Given the description of an element on the screen output the (x, y) to click on. 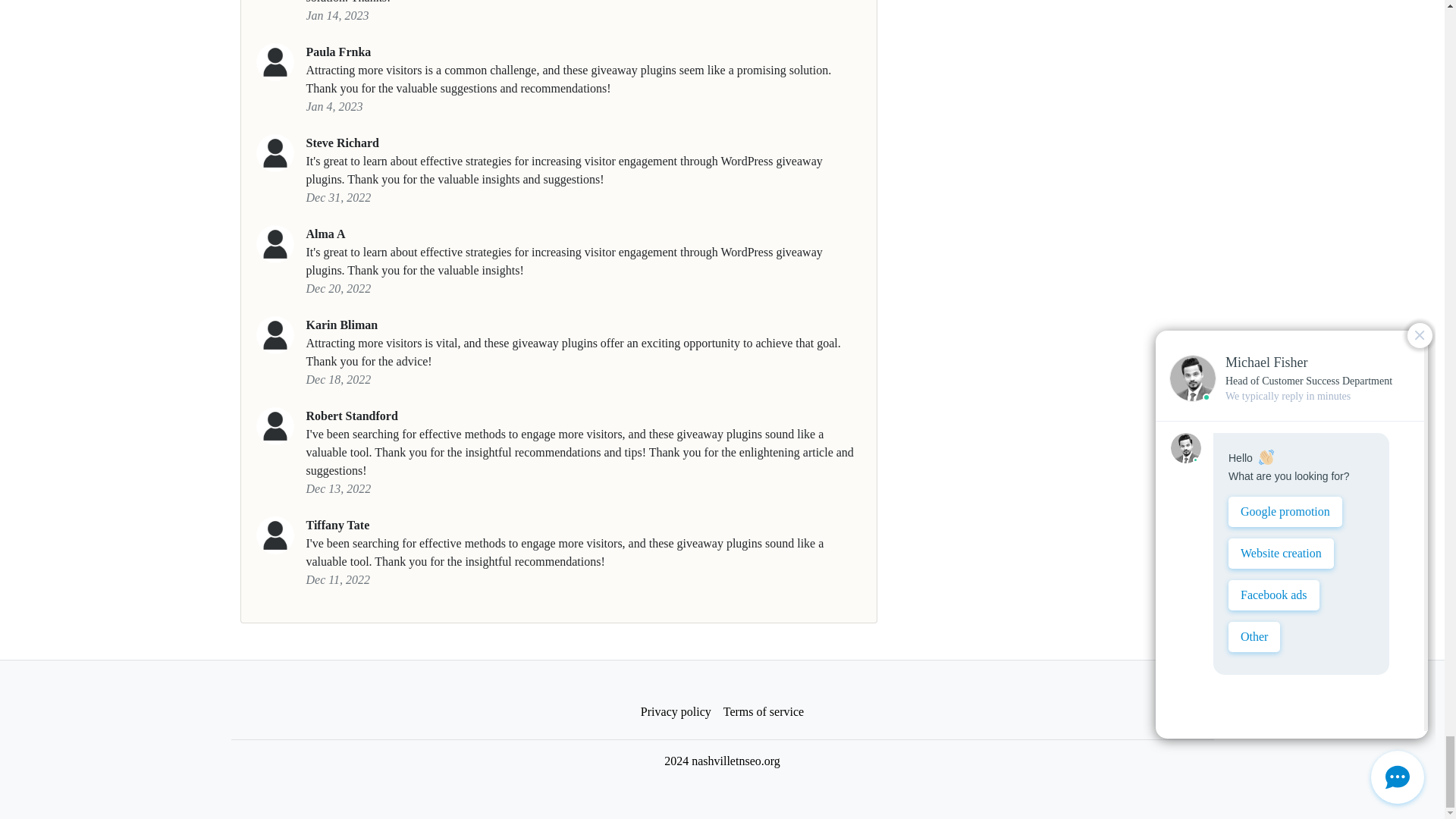
Terms of service (763, 711)
Privacy policy (675, 711)
